Given the description of an element on the screen output the (x, y) to click on. 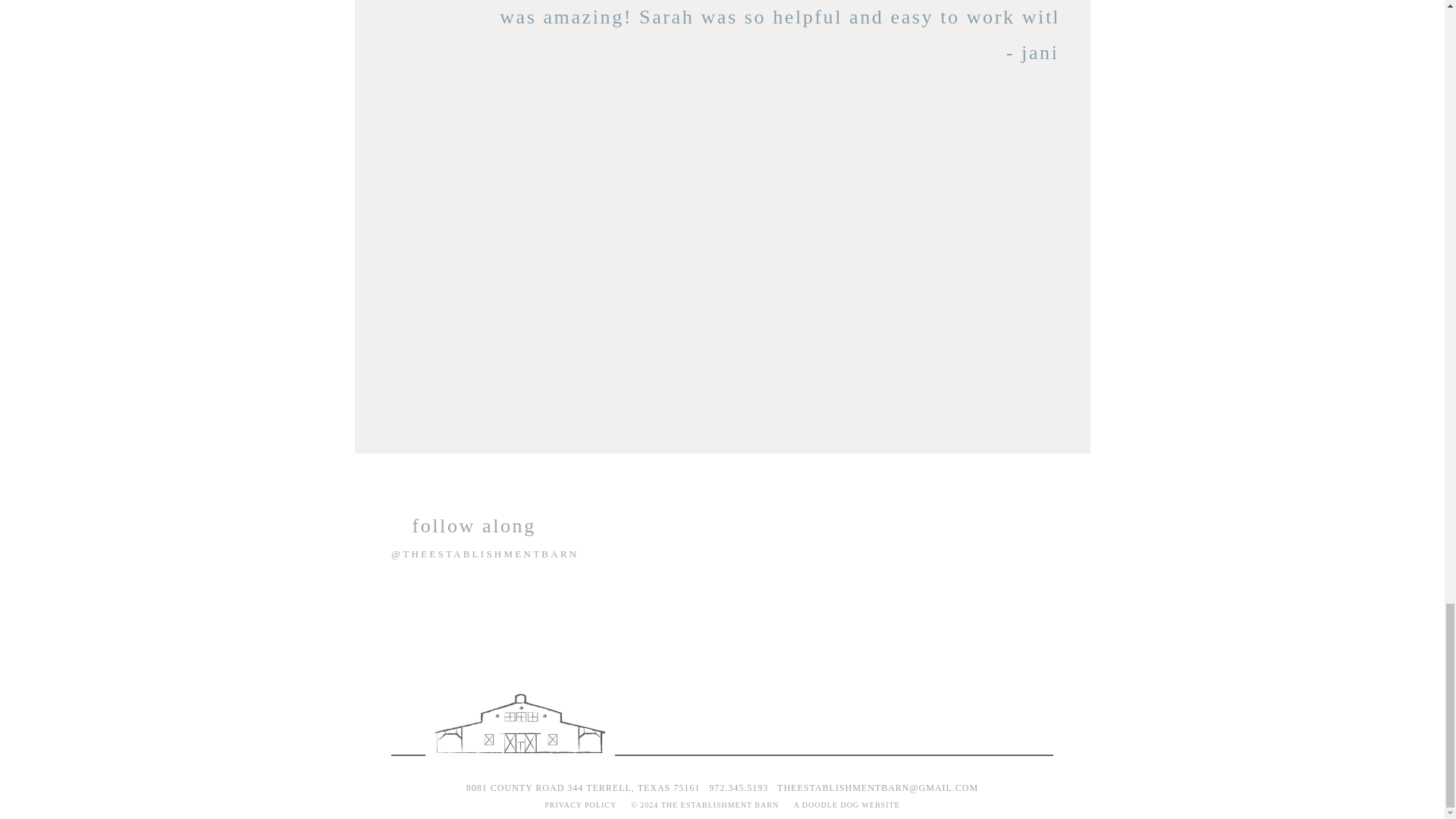
PRIVACY POLICY (579, 804)
Doodle Dog (846, 804)
972.345.5193 (738, 787)
A DOODLE DOG WEBSITE (846, 804)
